Given the description of an element on the screen output the (x, y) to click on. 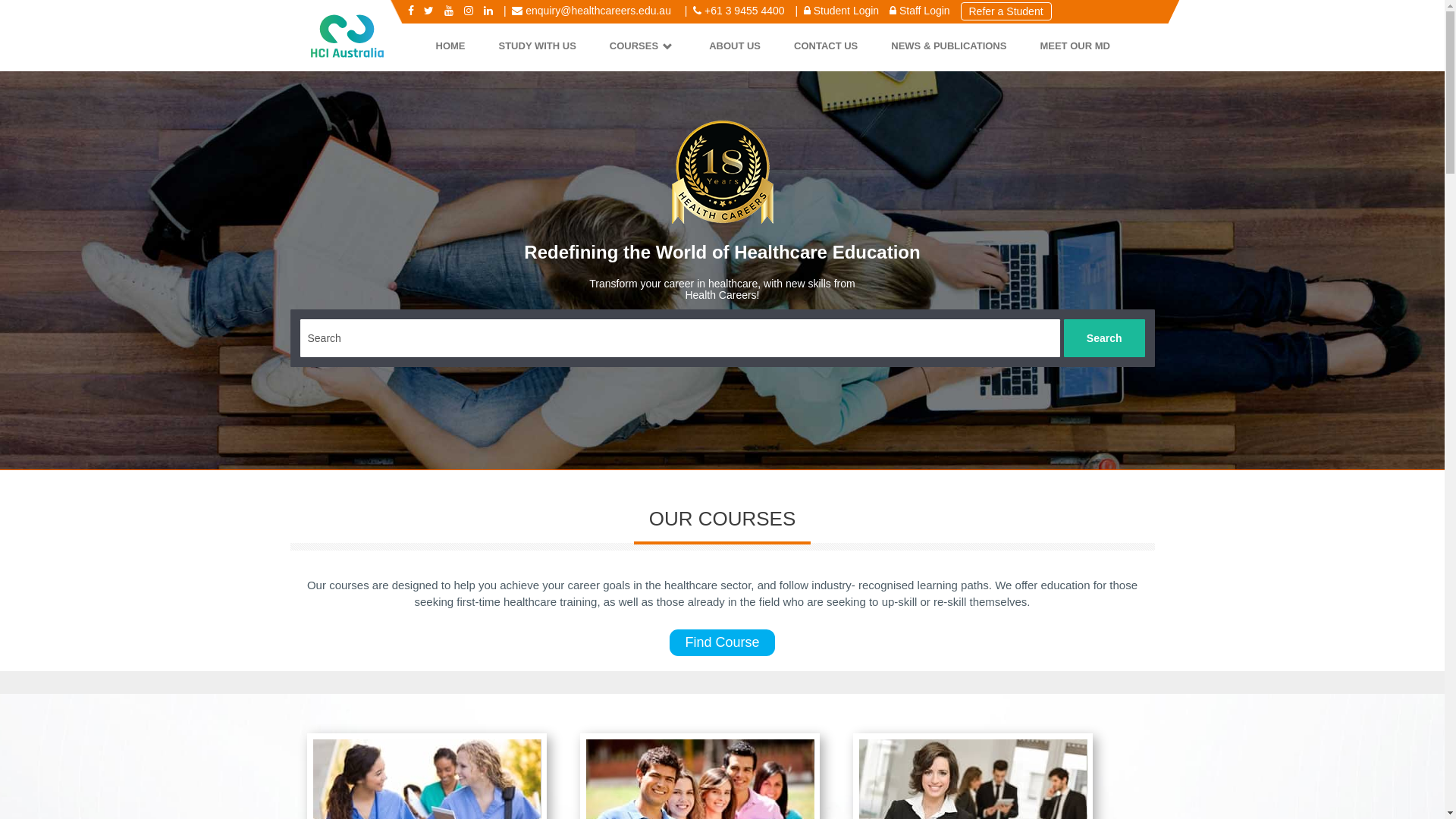
Staff Login Element type: text (919, 10)
Find Course Element type: text (721, 642)
NEWS & PUBLICATIONS Element type: text (948, 47)
CONTACT US Element type: text (825, 47)
Student Login Element type: text (840, 10)
COURSES Element type: text (642, 47)
STUDY WITH US Element type: text (536, 47)
ABOUT US Element type: text (734, 47)
  Element type: text (1, 7)
Refer a Student Element type: text (1005, 11)
MEET OUR MD Element type: text (1074, 47)
+61 3 9455 4400 Element type: text (738, 10)
Search Element type: text (1104, 338)
enquiry@healthcareers.edu.au Element type: text (592, 10)
HOME Element type: text (450, 47)
